Given the description of an element on the screen output the (x, y) to click on. 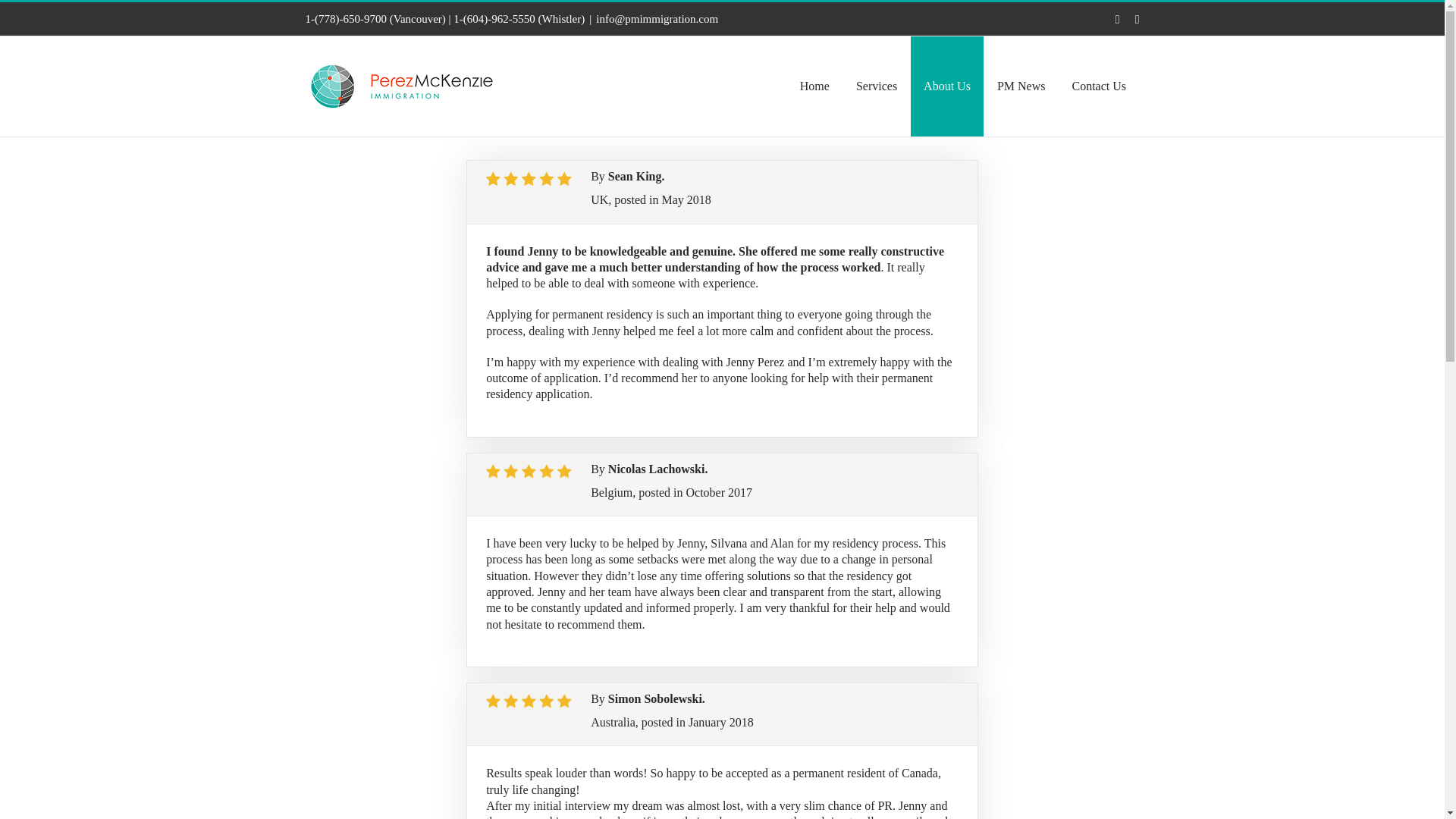
5-star (529, 703)
5-star (529, 181)
5-star (529, 473)
